Given the description of an element on the screen output the (x, y) to click on. 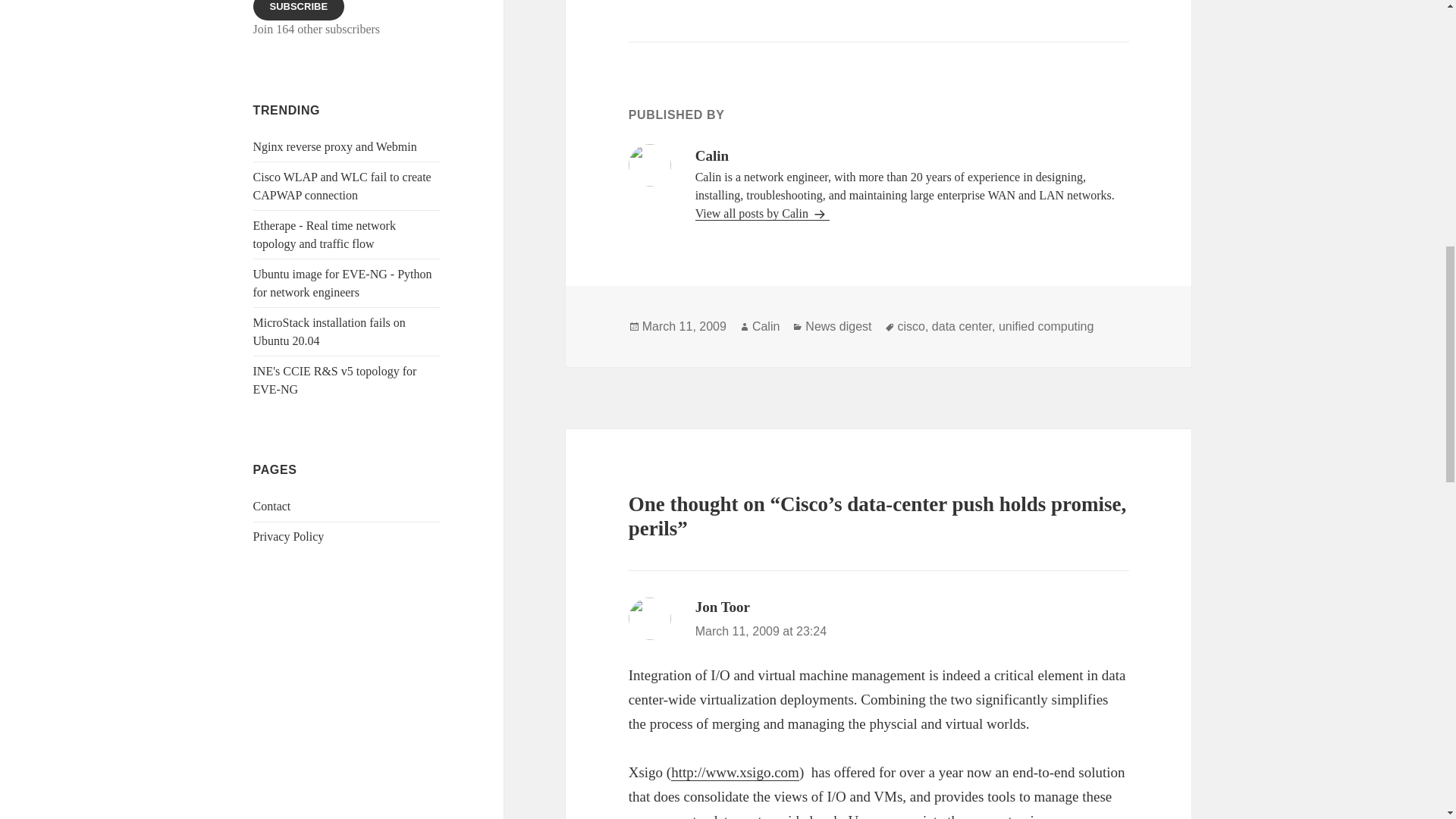
Ubuntu image for EVE-NG - Python for network engineers (342, 282)
Etherape - Real time network topology and traffic flow (324, 234)
Contact (272, 505)
Privacy Policy (288, 535)
Nginx reverse proxy and Webmin (334, 146)
MicroStack installation fails on Ubuntu 20.04 (329, 331)
Cisco WLAP and WLC fail to create CAPWAP connection (341, 185)
View all posts by Calin (762, 213)
SUBSCRIBE (299, 10)
